Given the description of an element on the screen output the (x, y) to click on. 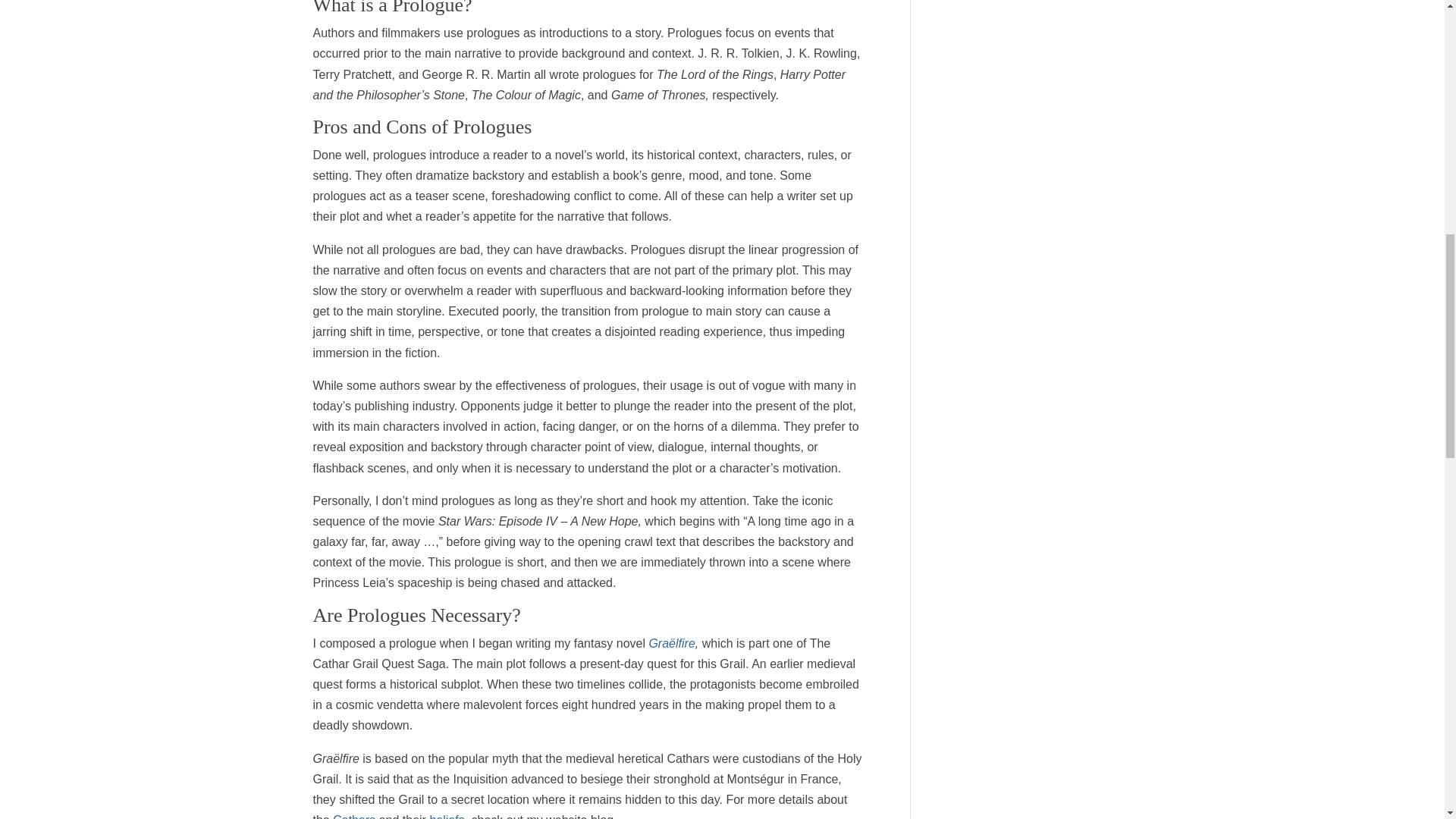
beliefs (446, 816)
Cathars (354, 816)
